Given the description of an element on the screen output the (x, y) to click on. 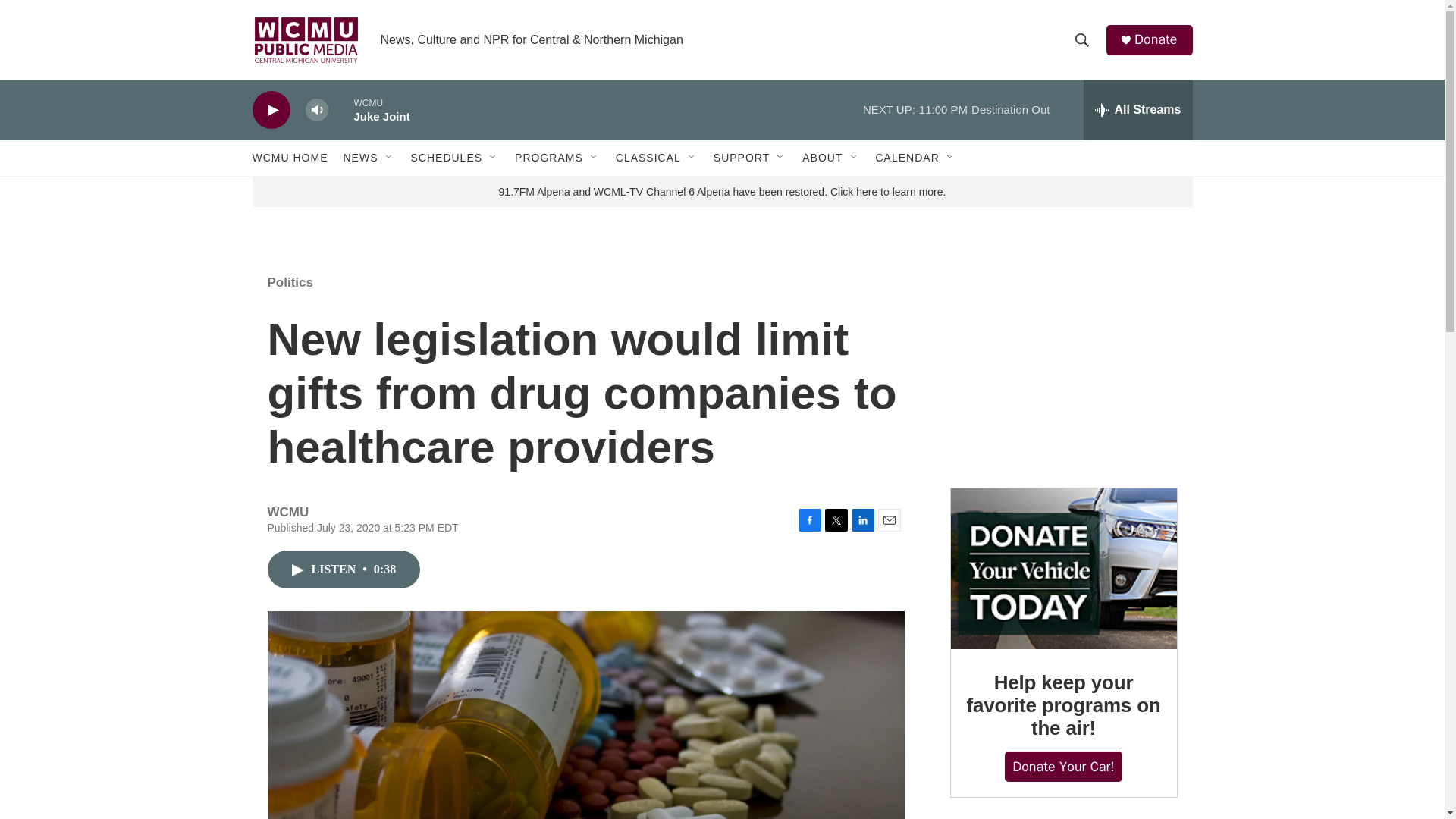
3rd party ad content (1062, 362)
